Given the description of an element on the screen output the (x, y) to click on. 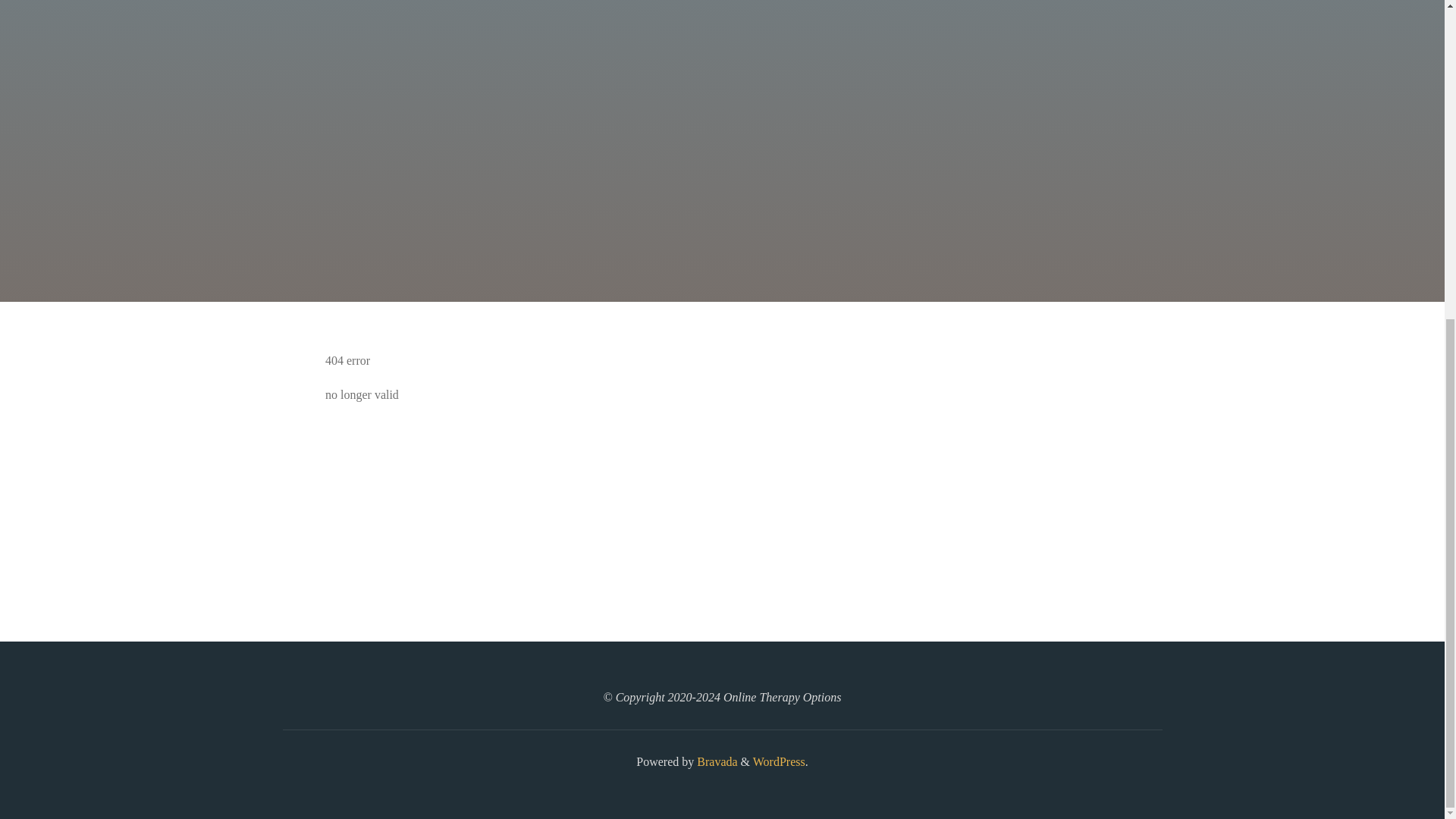
Semantic Personal Publishing Platform (778, 761)
Bravada (715, 761)
WordPress (778, 761)
Bravada WordPress Theme by Cryout Creations (715, 761)
Read more (721, 207)
